Given the description of an element on the screen output the (x, y) to click on. 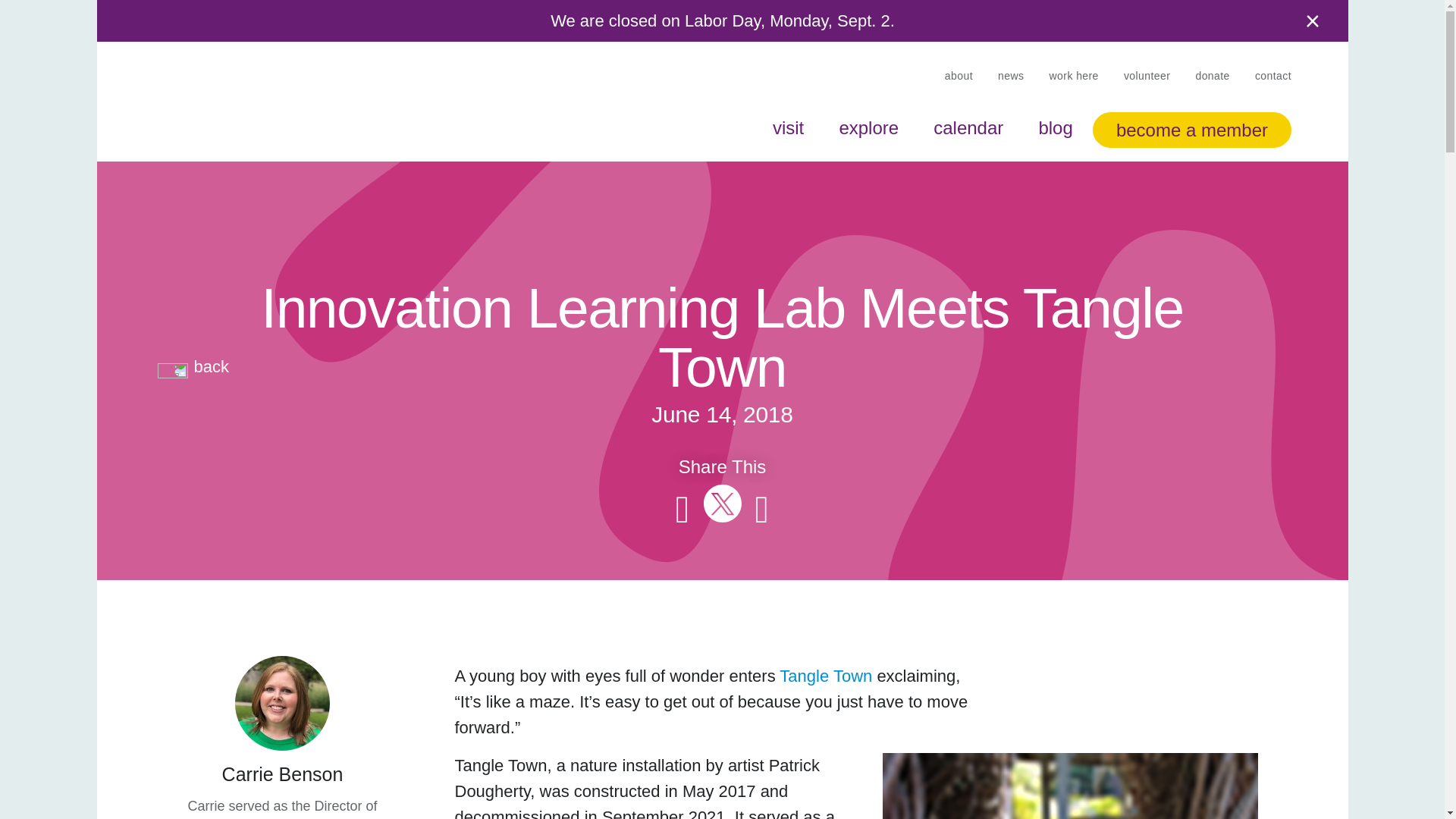
explore (869, 125)
about (957, 75)
visit (787, 125)
news (1010, 75)
work here (1072, 75)
blog (1055, 125)
donate (1211, 75)
Children's Museum of South Dakota (247, 130)
calendar (967, 125)
